Given the description of an element on the screen output the (x, y) to click on. 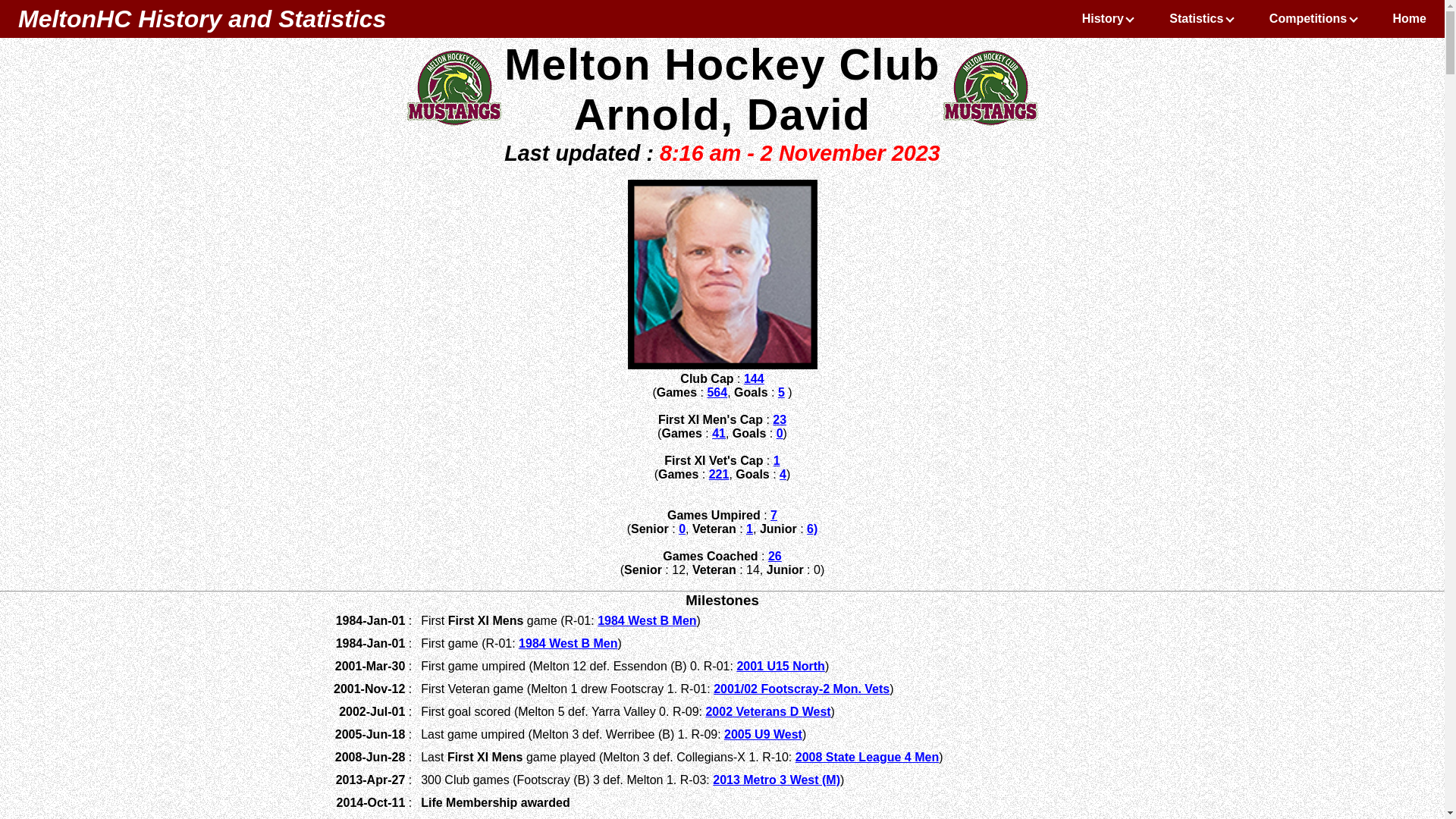
6) Element type: text (811, 528)
2002 Veterans D West Element type: text (767, 711)
1984 West B Men Element type: text (646, 620)
Statistics Element type: text (1201, 18)
2005 U9 West Element type: text (763, 734)
23 Element type: text (779, 419)
1 Element type: text (749, 528)
1 Element type: text (776, 460)
2008 State League 4 Men Element type: text (866, 756)
41 Element type: text (718, 432)
History Element type: text (1107, 18)
5 Element type: text (781, 391)
0 Element type: text (779, 432)
Home Element type: text (1409, 18)
2013 Metro 3 West (M) Element type: text (776, 779)
2001 U15 North Element type: text (780, 665)
7 Element type: text (773, 514)
2001/02 Footscray-2 Mon. Vets Element type: text (801, 688)
Competitions Element type: text (1312, 18)
26 Element type: text (774, 555)
4 Element type: text (782, 473)
0 Element type: text (681, 528)
144 Element type: text (753, 378)
564 Element type: text (716, 391)
1984 West B Men Element type: text (567, 643)
221 Element type: text (719, 473)
